Given the description of an element on the screen output the (x, y) to click on. 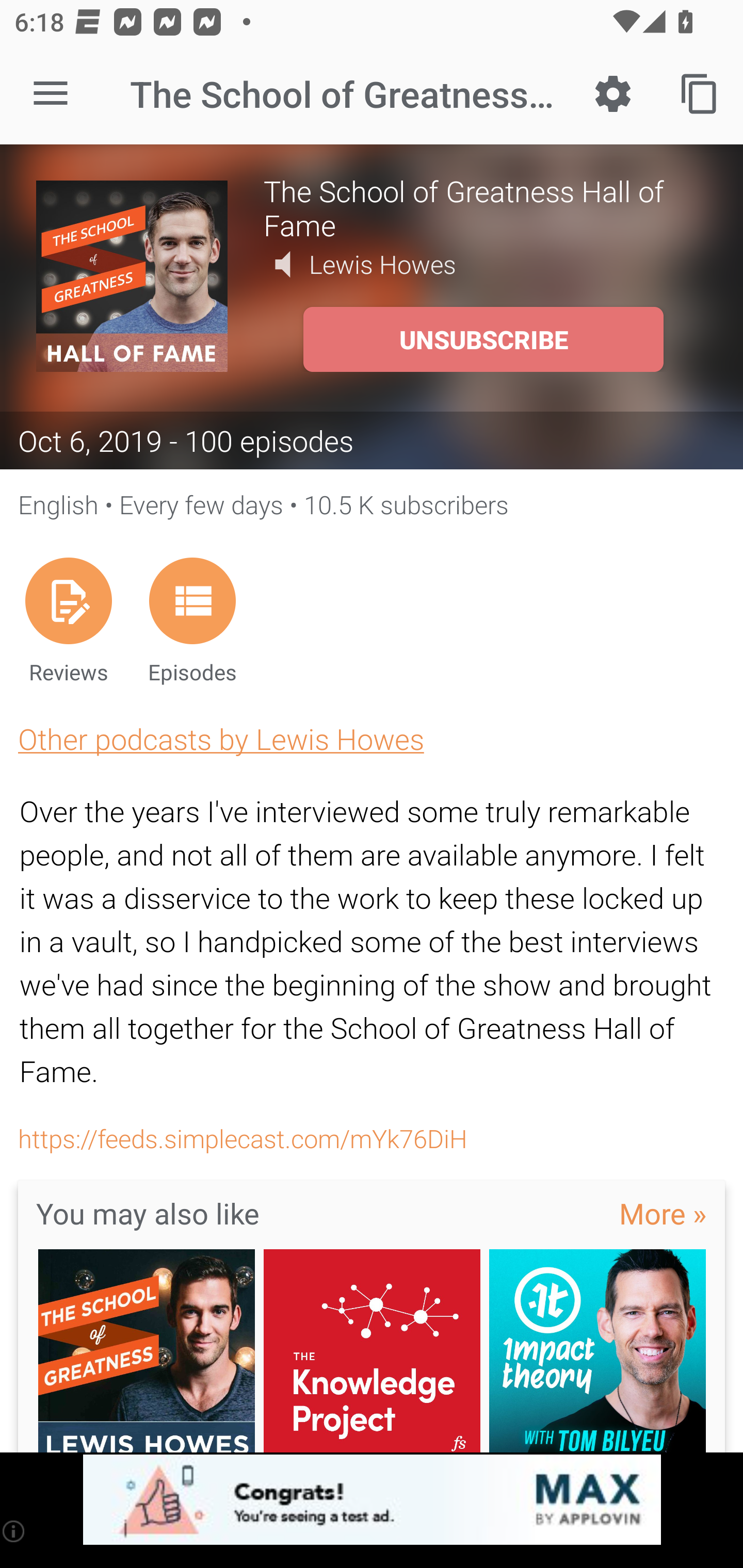
Open navigation sidebar (50, 93)
Settings (612, 93)
Copy feed url to clipboard (699, 93)
The School of Greatness Hall of Fame (484, 207)
UNSUBSCRIBE (483, 339)
Reviews (68, 619)
Episodes (192, 619)
Other podcasts by Lewis Howes (220, 738)
More » (662, 1212)
app-monetization (371, 1500)
(i) (14, 1531)
